Given the description of an element on the screen output the (x, y) to click on. 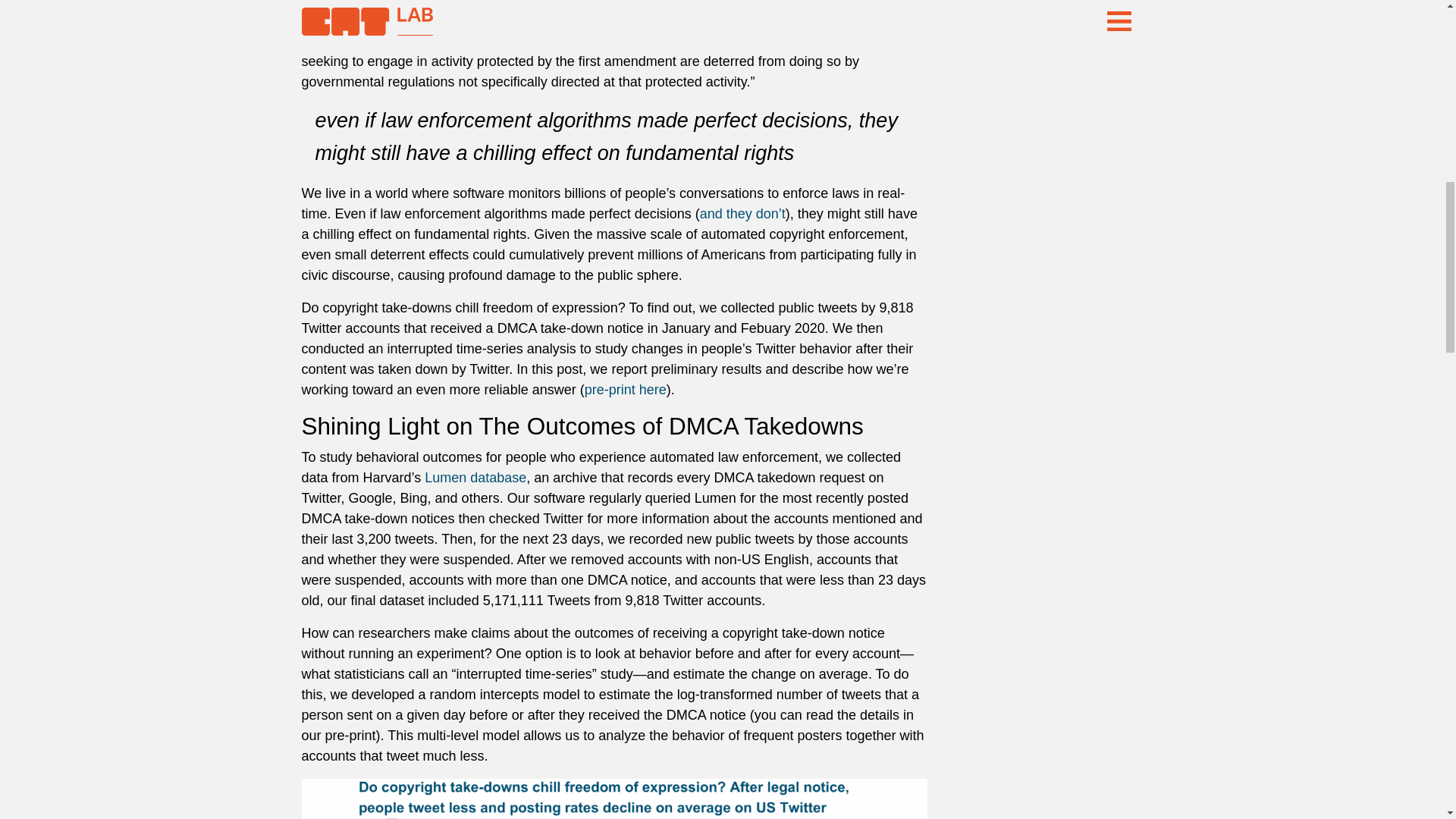
a chilling effect (726, 40)
pre-print here (625, 389)
Lumen database (475, 477)
